Given the description of an element on the screen output the (x, y) to click on. 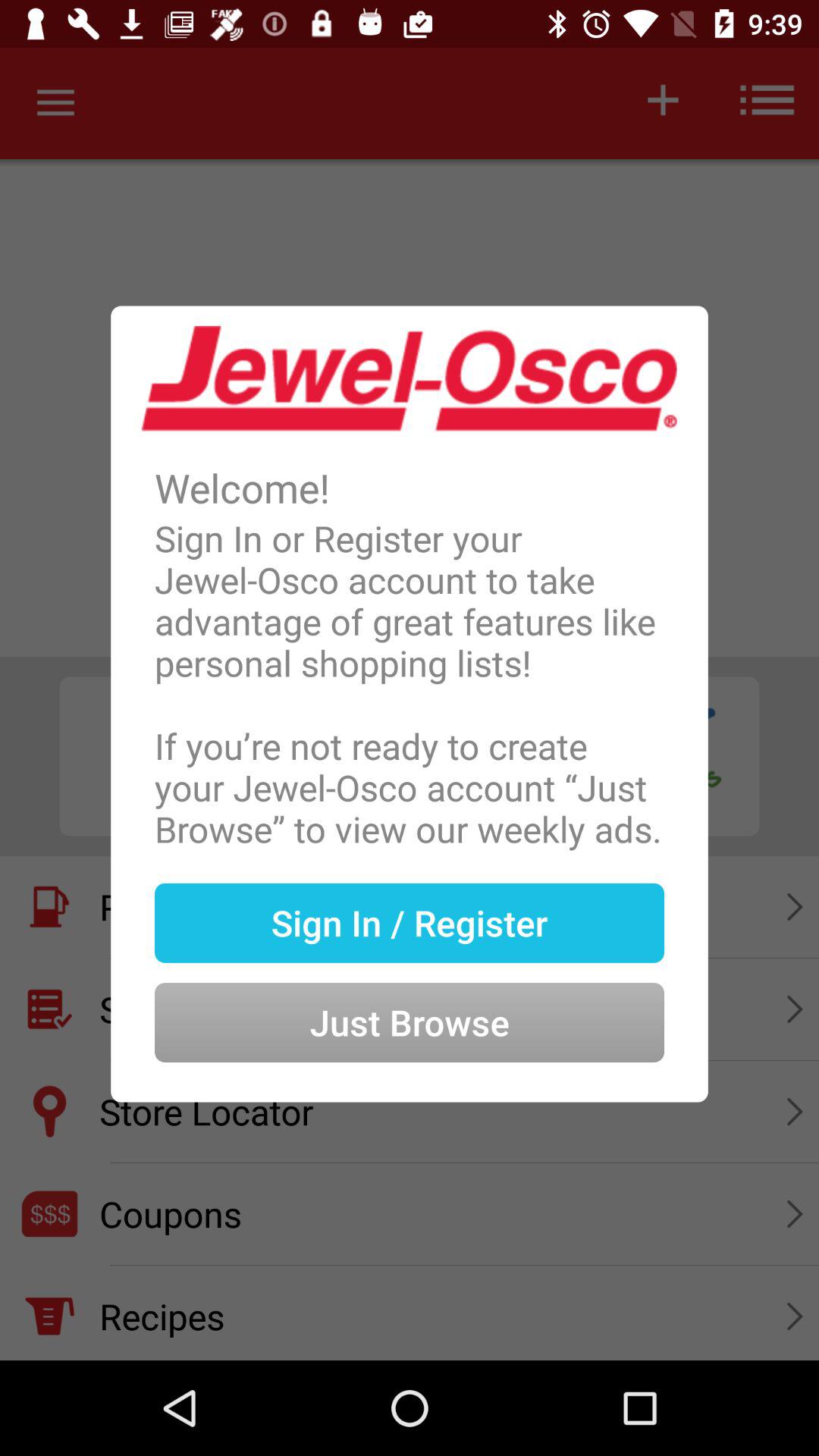
select just browse icon (409, 998)
